Given the description of an element on the screen output the (x, y) to click on. 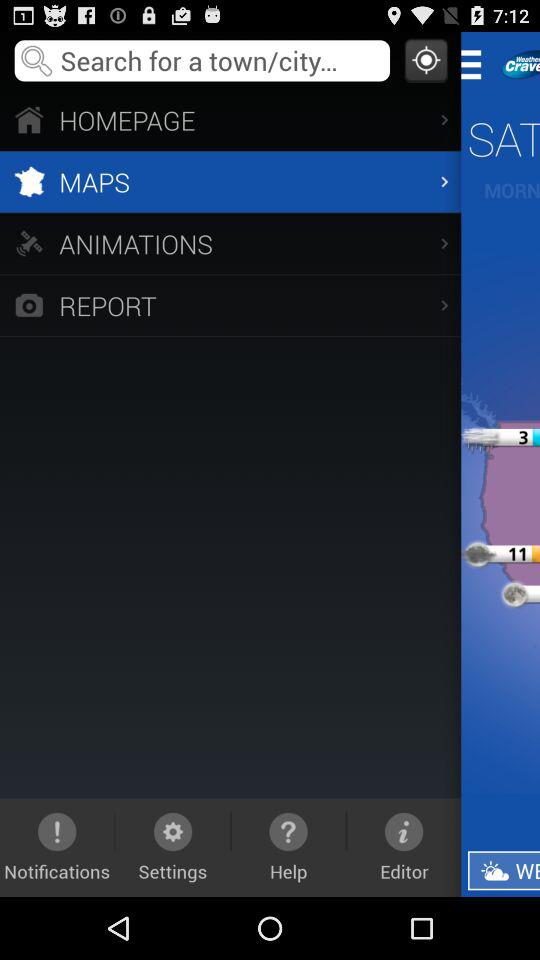
turn on location (426, 60)
